Given the description of an element on the screen output the (x, y) to click on. 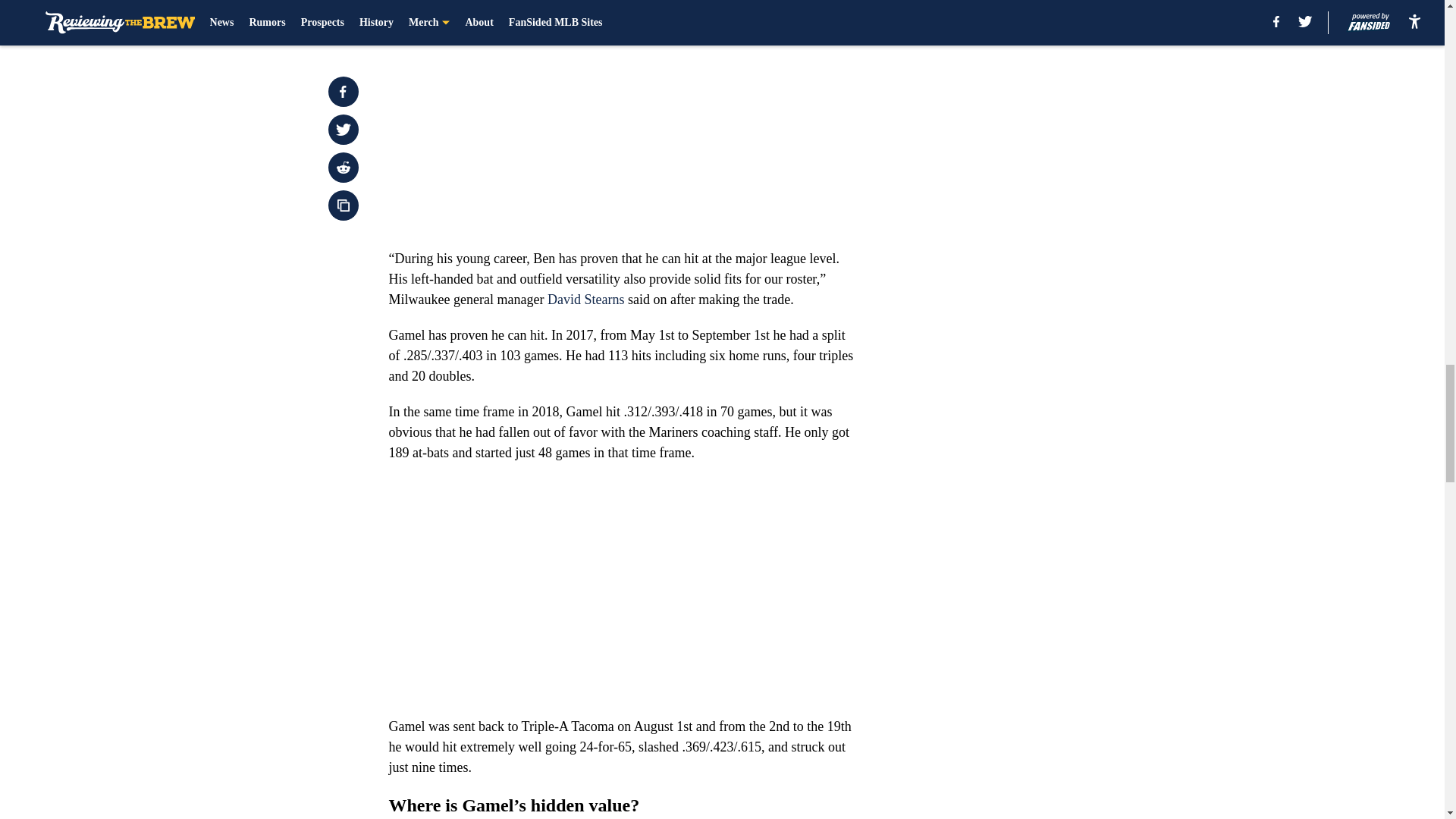
David Stearns (585, 299)
